Given the description of an element on the screen output the (x, y) to click on. 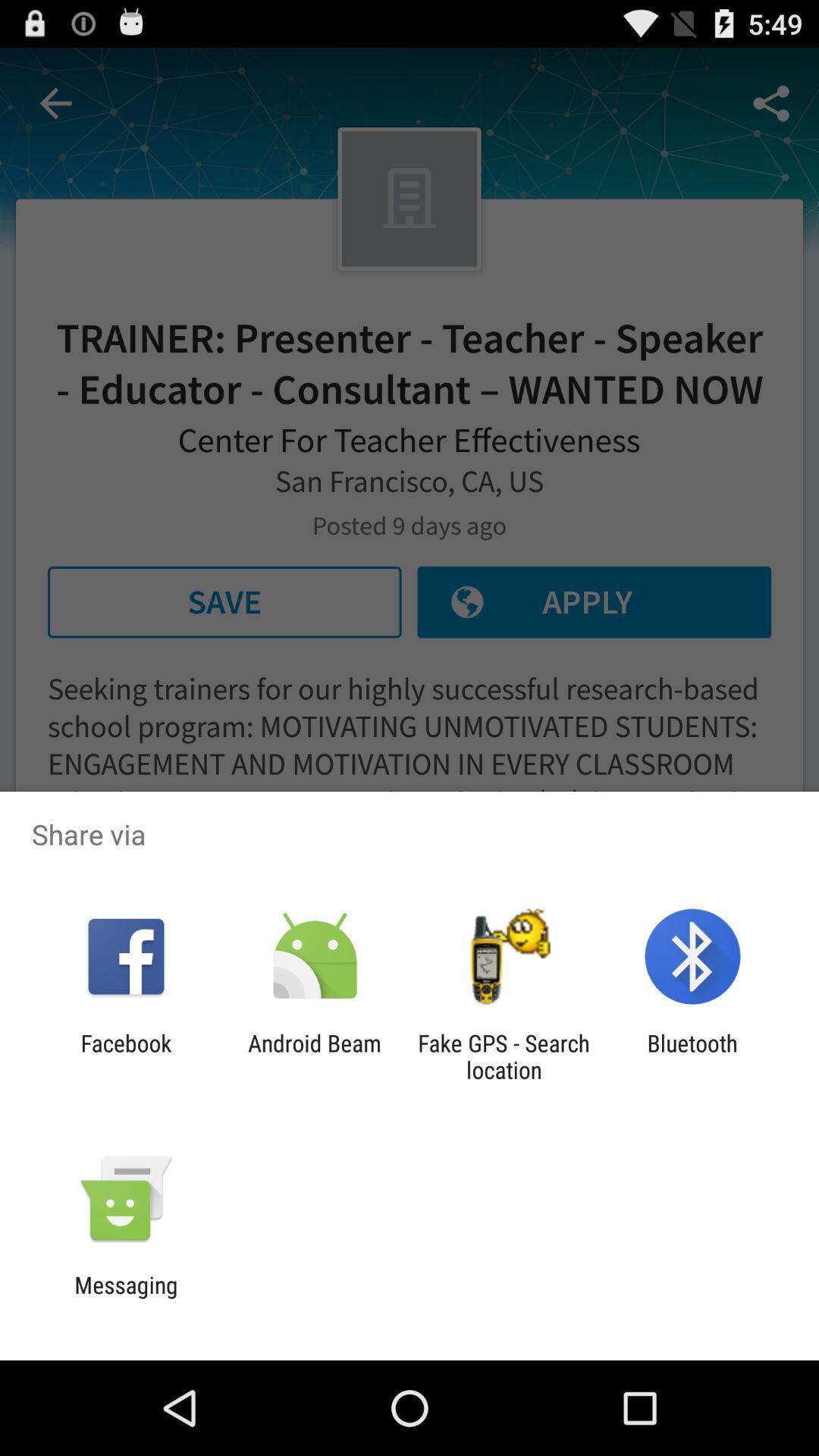
tap the bluetooth item (692, 1056)
